Given the description of an element on the screen output the (x, y) to click on. 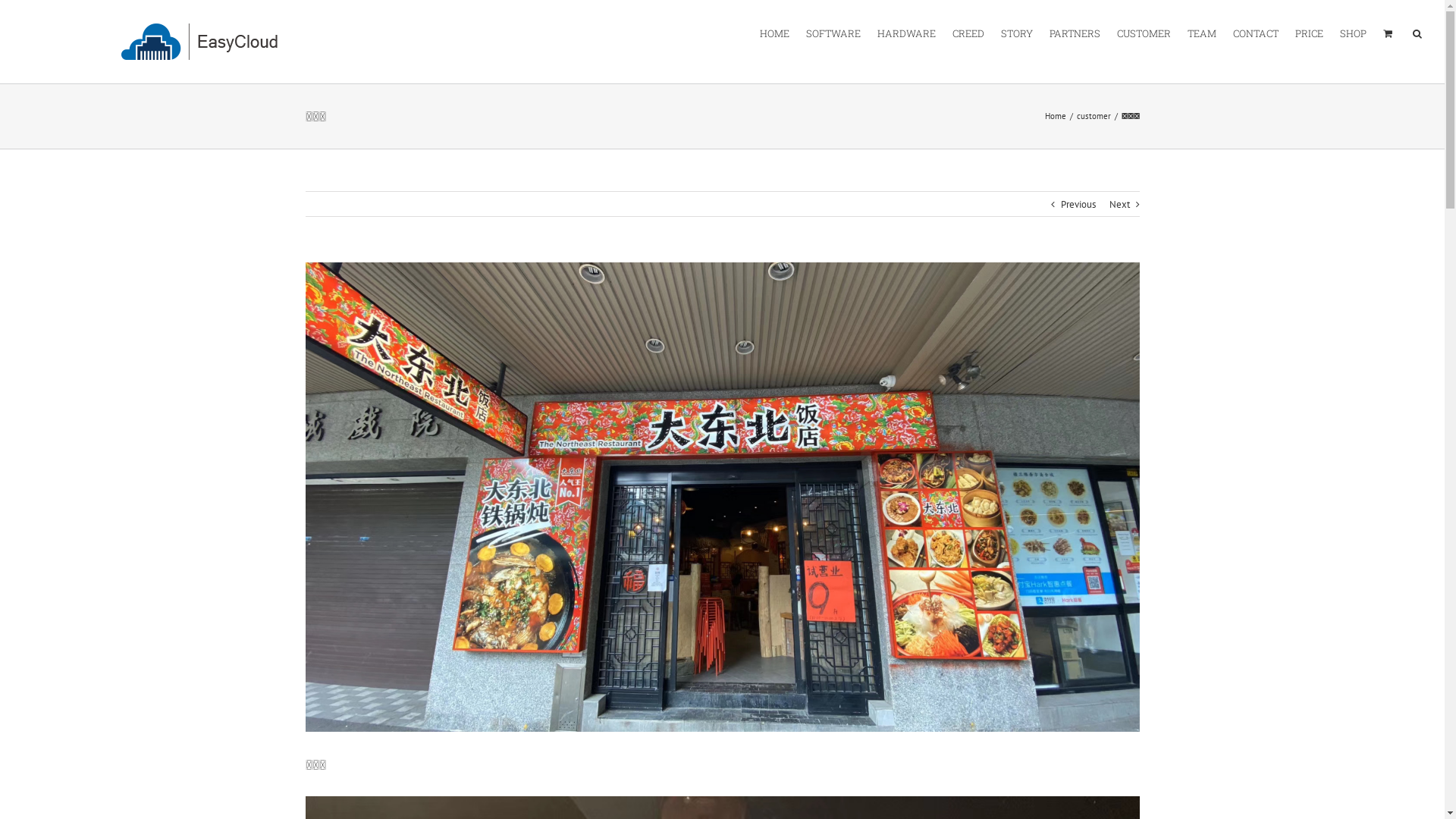
PARTNERS Element type: text (1074, 32)
Previous Element type: text (1077, 204)
PRICE Element type: text (1309, 32)
Home Element type: text (1055, 115)
CREED Element type: text (968, 32)
HOME Element type: text (774, 32)
customer Element type: text (1093, 115)
SHOP Element type: text (1352, 32)
HARDWARE Element type: text (906, 32)
TEAM Element type: text (1201, 32)
Search Element type: hover (1416, 32)
CONTACT Element type: text (1255, 32)
SOFTWARE Element type: text (833, 32)
CUSTOMER Element type: text (1143, 32)
Next Element type: text (1118, 204)
STORY Element type: text (1016, 32)
